Given the description of an element on the screen output the (x, y) to click on. 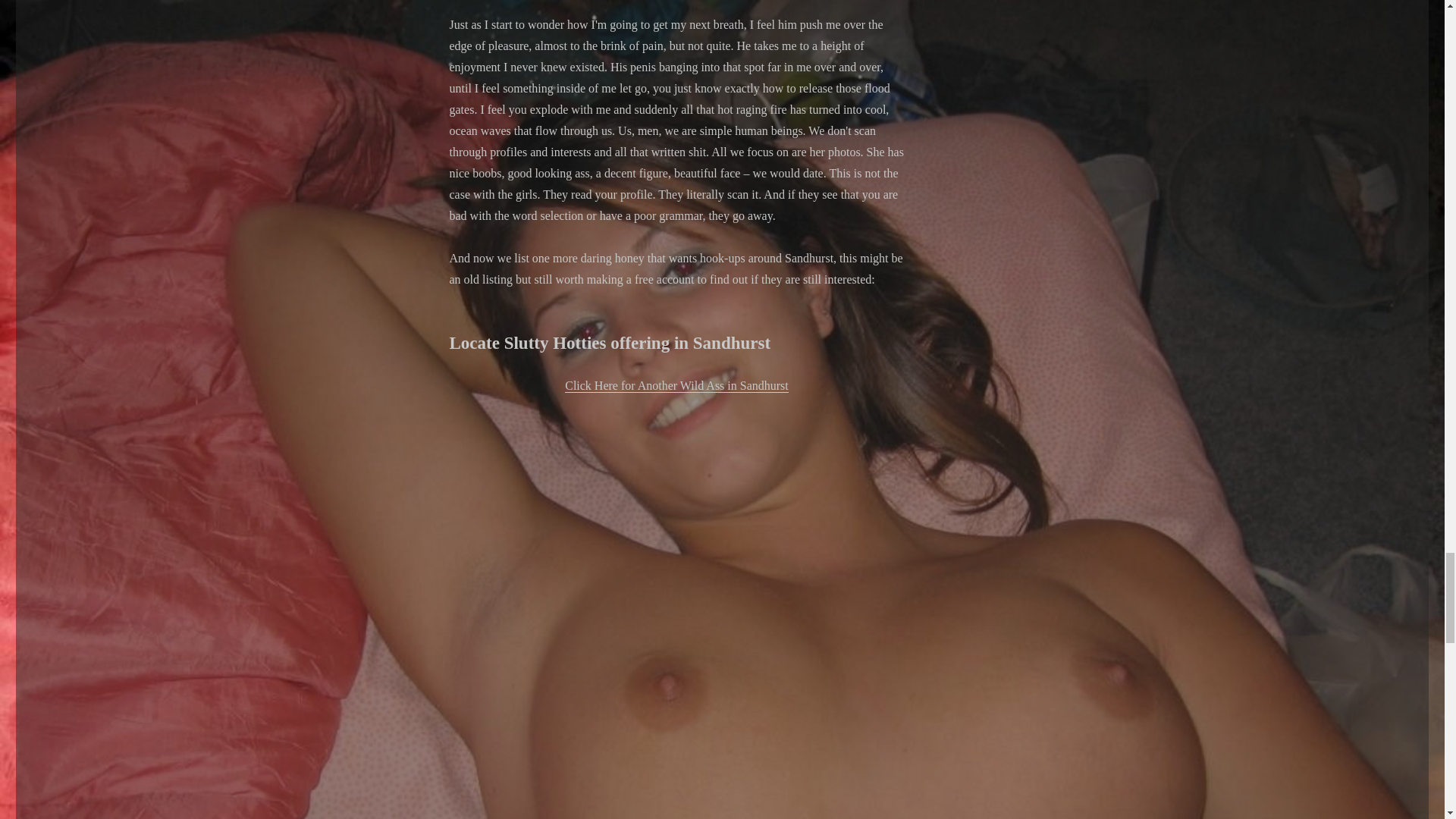
Click Here for Another Wild Ass in Sandhurst (676, 385)
